Given the description of an element on the screen output the (x, y) to click on. 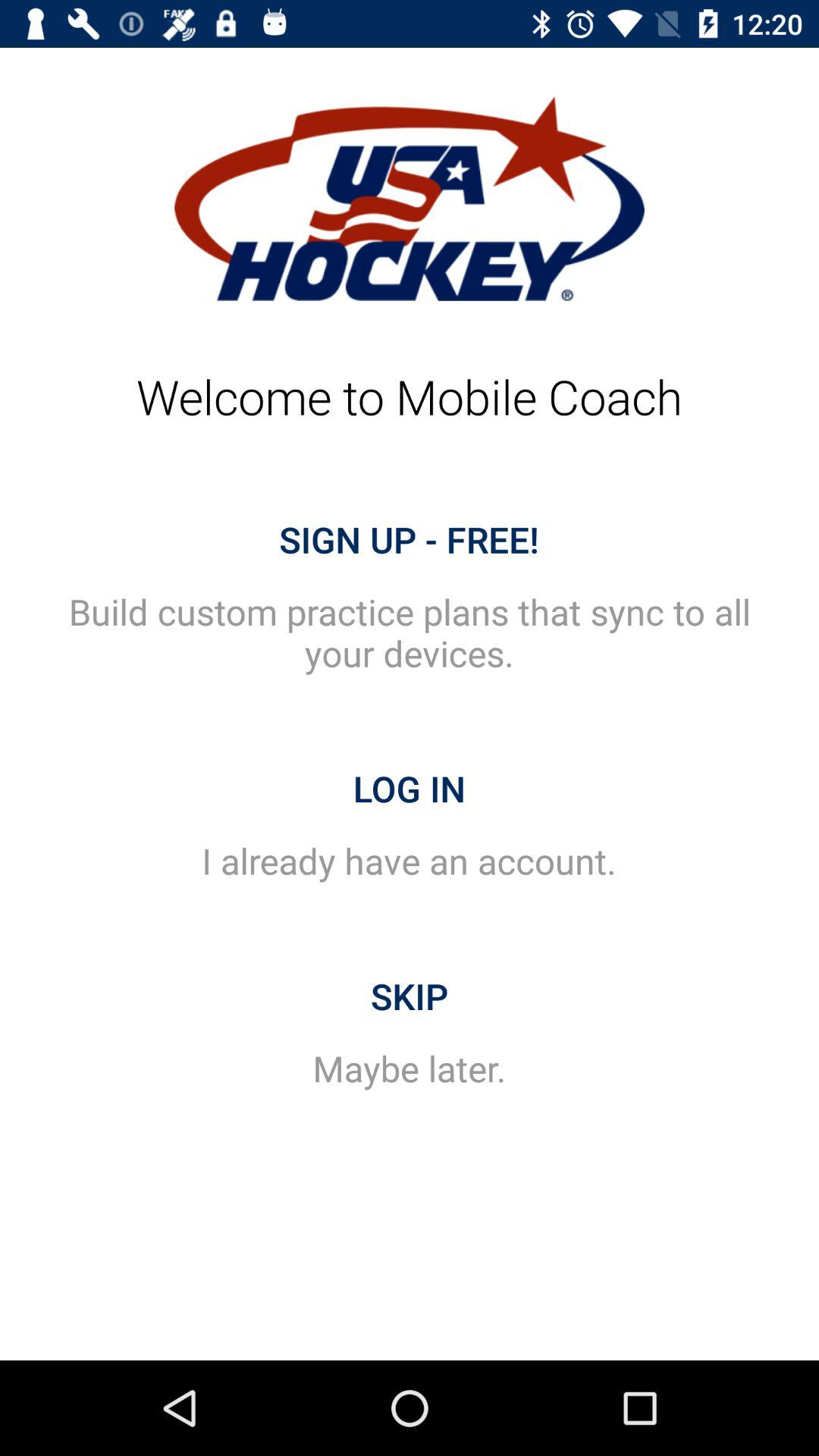
click log in item (409, 788)
